Given the description of an element on the screen output the (x, y) to click on. 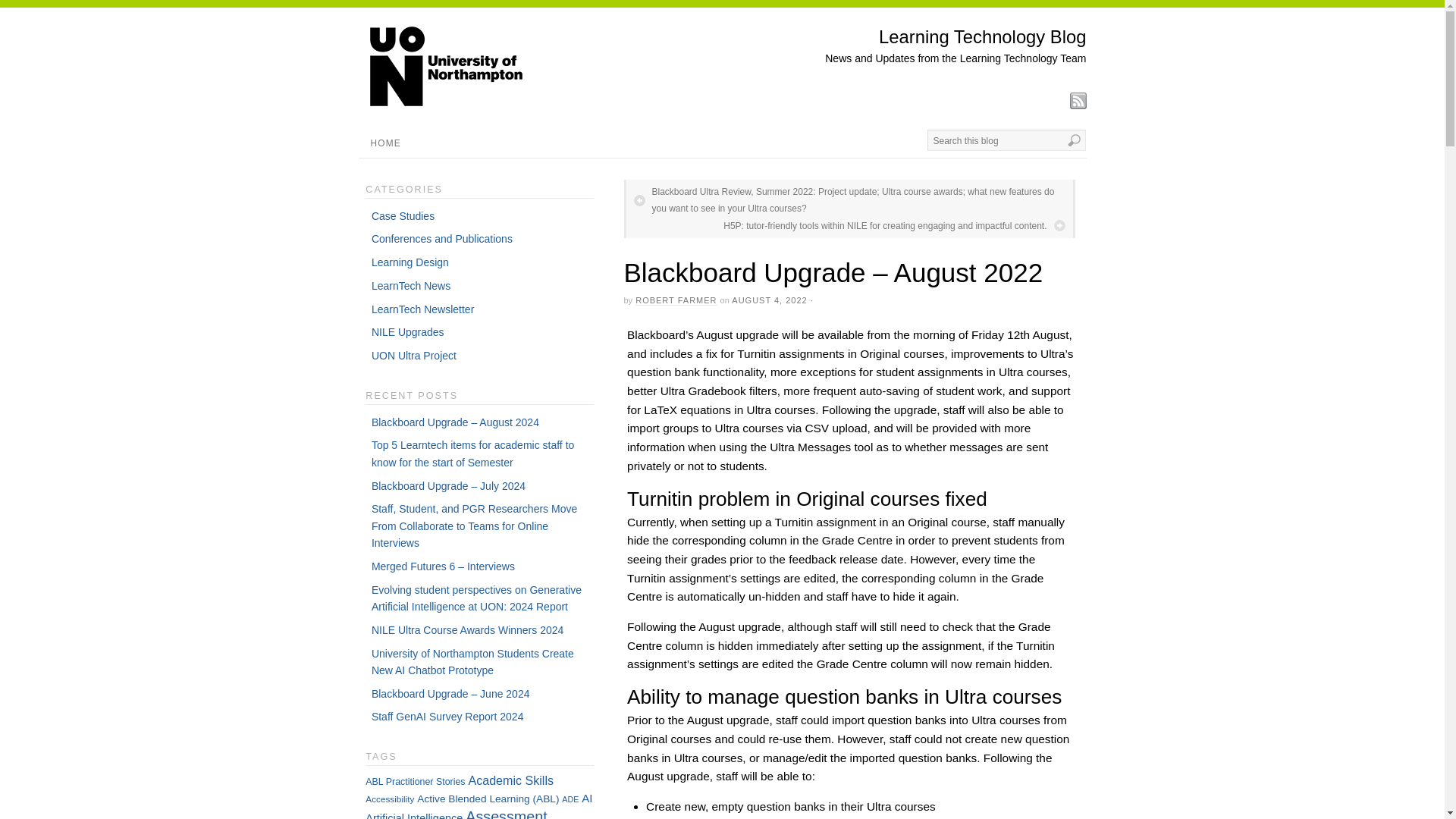
Academic Skills (510, 780)
NILE Ultra Course Awards Winners 2024 (467, 630)
Accessibility (389, 798)
Learning Technology Blog (982, 36)
NILE Upgrades (407, 331)
LearnTech Newsletter (422, 309)
HOME (385, 143)
ADE (570, 798)
UON Ultra Project (414, 355)
